Given the description of an element on the screen output the (x, y) to click on. 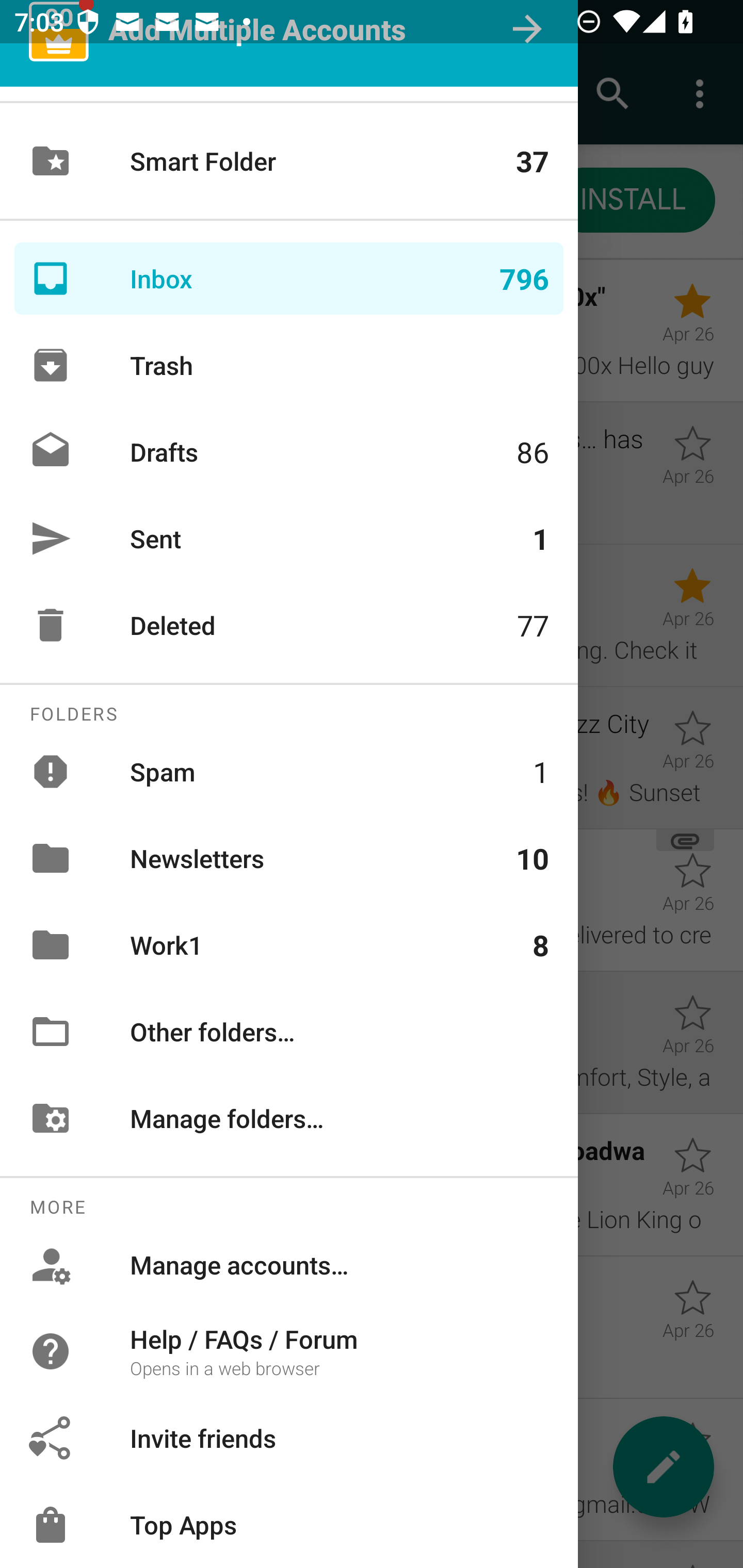
Smart Folder 37 (289, 160)
Inbox 796 (289, 278)
Trash (289, 365)
Drafts 86 (289, 452)
Sent 1 (289, 538)
Deleted 77 (289, 624)
Spam 1 (289, 771)
Newsletters 10 (289, 858)
Work1 8 (289, 944)
Other folders… (289, 1031)
Manage folders… (289, 1118)
Manage accounts… (289, 1264)
Help / FAQs / Forum Opens in a web browser (289, 1350)
Invite friends (289, 1437)
Top Apps (289, 1524)
